Given the description of an element on the screen output the (x, y) to click on. 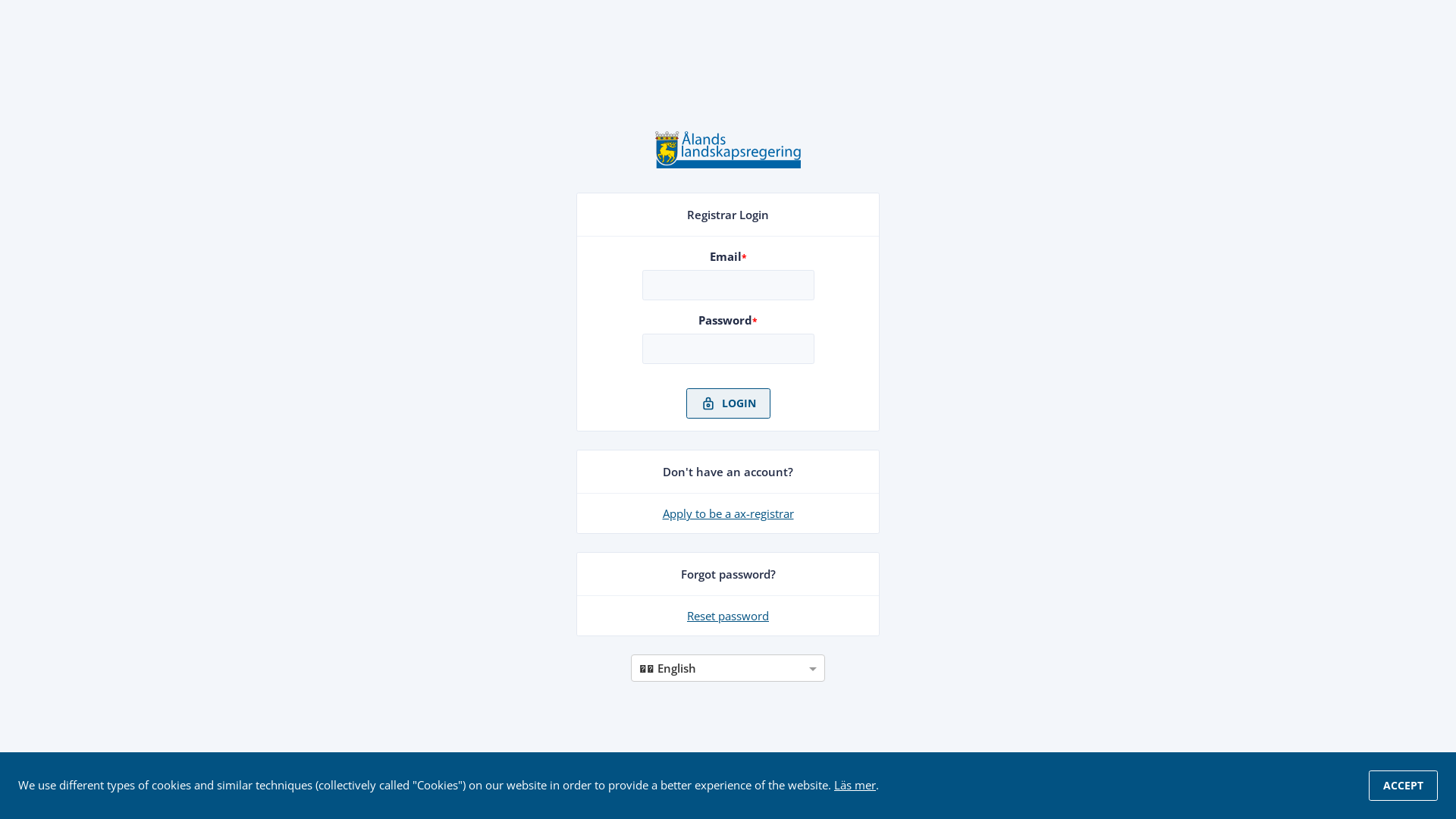
whois.ax Element type: hover (727, 161)
LOGIN Element type: text (727, 403)
ACCEPT Element type: text (1402, 785)
Apply to be a ax-registrar Element type: text (727, 512)
Reset password Element type: text (727, 615)
